Given the description of an element on the screen output the (x, y) to click on. 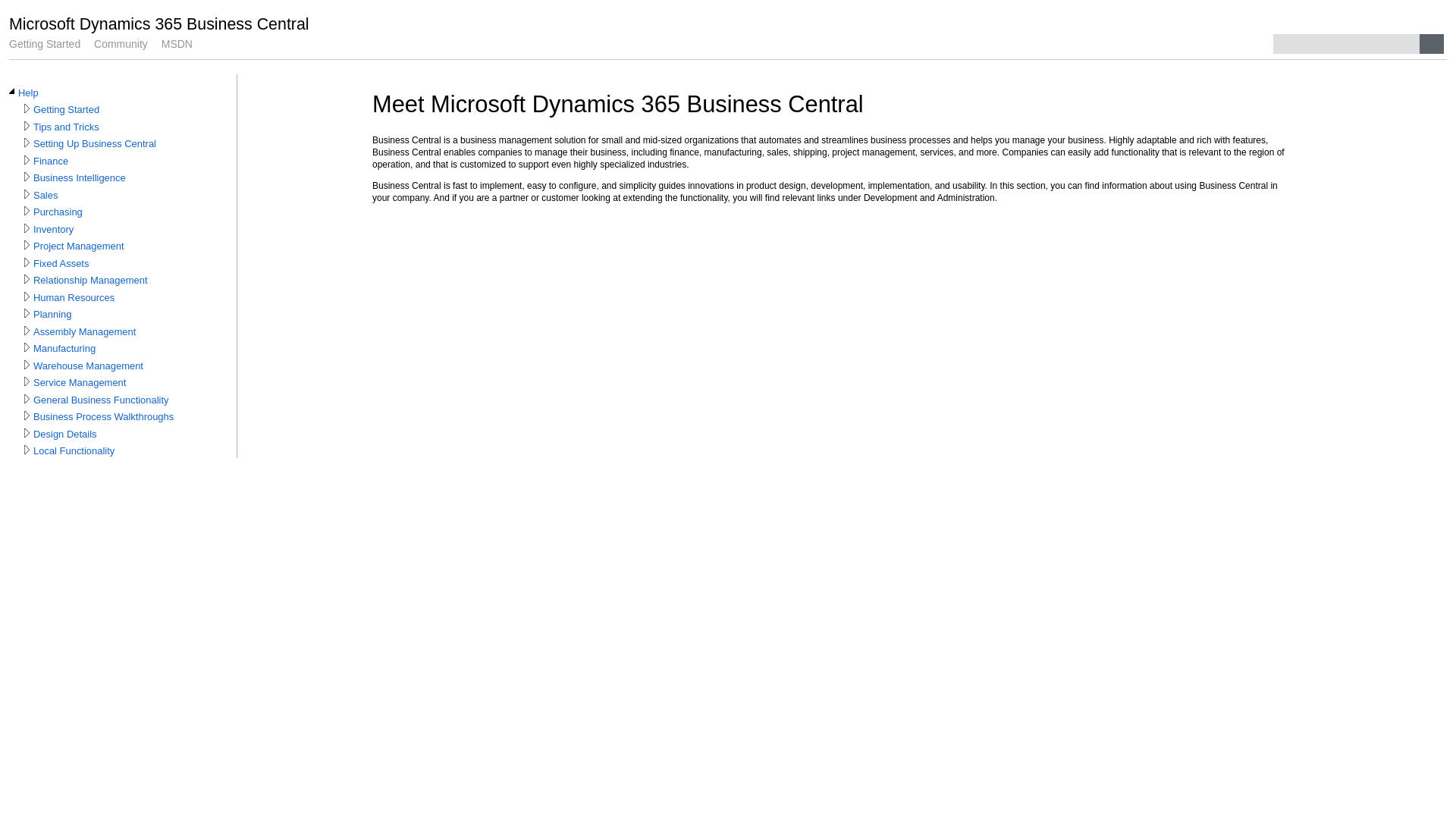
Expand Assembly Management Element type: hover (26, 330)
Expand Business Process Walkthroughs Element type: hover (26, 415)
Expand Sales Element type: hover (26, 193)
Tips and Tricks Element type: text (66, 127)
Inventory Element type: text (53, 229)
Assembly Management Element type: text (84, 331)
Sales Element type: text (45, 195)
Project Management Element type: text (78, 246)
Planning Element type: text (52, 314)
Expand Human Resources Element type: hover (26, 296)
Business Process Walkthroughs Element type: text (103, 416)
Community Element type: text (120, 43)
Getting Started Element type: text (66, 109)
Business Intelligence Element type: text (79, 178)
Expand Service Management Element type: hover (26, 380)
Expand Getting Started Element type: hover (26, 107)
Search Element type: hover (1346, 43)
Search Element type: hover (1431, 43)
Purchasing Element type: text (57, 212)
Expand General Business Functionality Element type: hover (26, 398)
Local Functionality Element type: text (73, 451)
Expand Setting Up Business Central Element type: hover (26, 142)
Fixed Assets Element type: text (60, 263)
Expand Relationship Management Element type: hover (26, 278)
Expand Manufacturing Element type: hover (26, 346)
Expand Design Details Element type: hover (26, 432)
Expand Planning Element type: hover (26, 312)
Human Resources Element type: text (73, 297)
Expand Project Management Element type: hover (26, 244)
Expand Finance Element type: hover (26, 159)
Help Element type: text (28, 93)
Relationship Management Element type: text (90, 280)
Expand Business Intelligence Element type: hover (26, 176)
Getting Started Element type: text (44, 43)
Expand Purchasing Element type: hover (26, 210)
Warehouse Management Element type: text (88, 366)
Expand Inventory Element type: hover (26, 227)
Expand Tips and Tricks Element type: hover (26, 125)
General Business Functionality Element type: text (101, 400)
Expand Fixed Assets Element type: hover (26, 261)
Expand Warehouse Management Element type: hover (26, 364)
MSDN Element type: text (176, 43)
Collapse Help Element type: hover (11, 91)
Finance Element type: text (50, 161)
Setting Up Business Central Element type: text (94, 143)
Manufacturing Element type: text (64, 348)
Design Details Element type: text (65, 434)
Expand Local Functionality Element type: hover (26, 449)
Service Management Element type: text (79, 382)
